Given the description of an element on the screen output the (x, y) to click on. 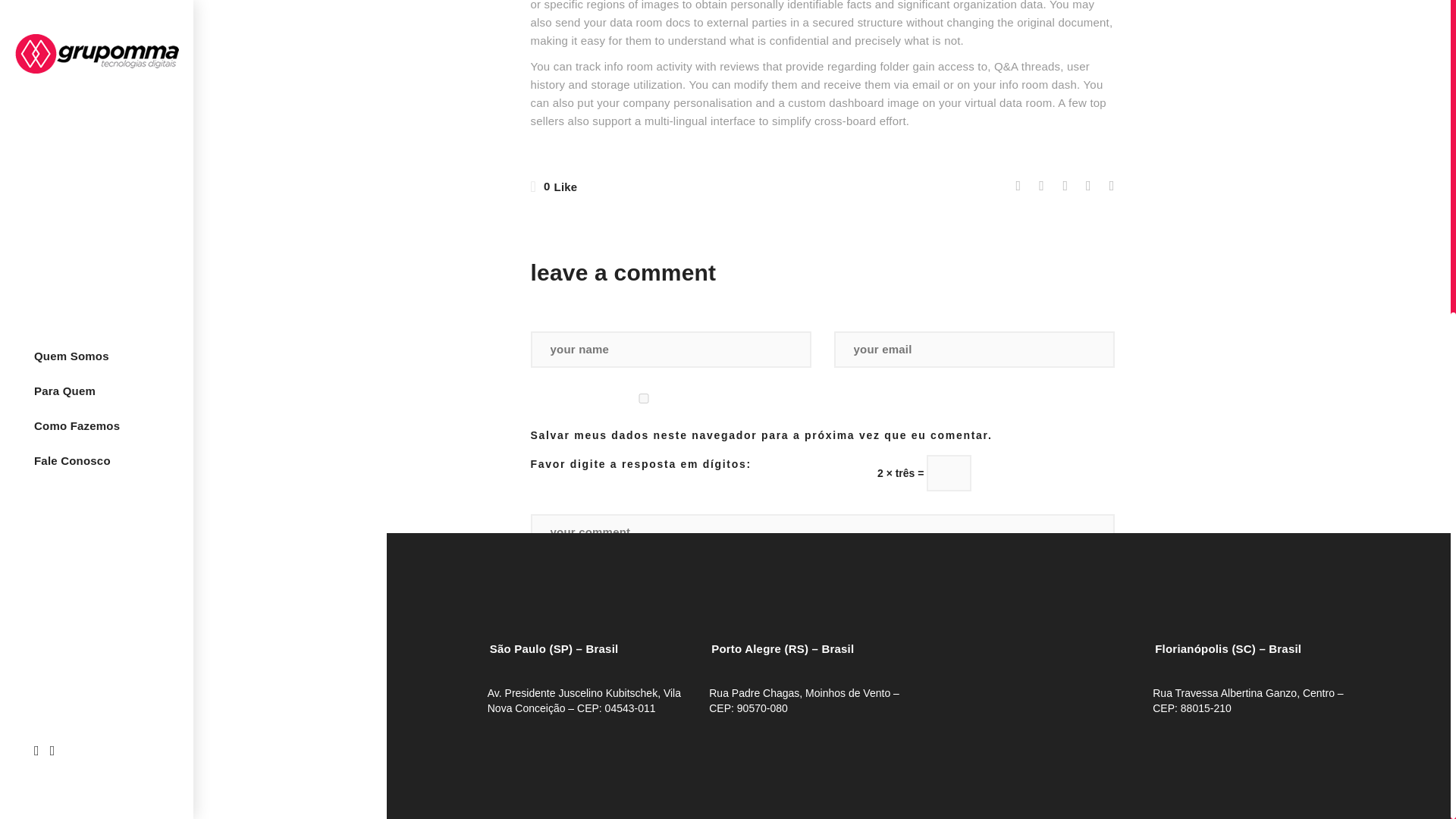
yes (644, 398)
post comment (598, 653)
post comment (598, 653)
